Given the description of an element on the screen output the (x, y) to click on. 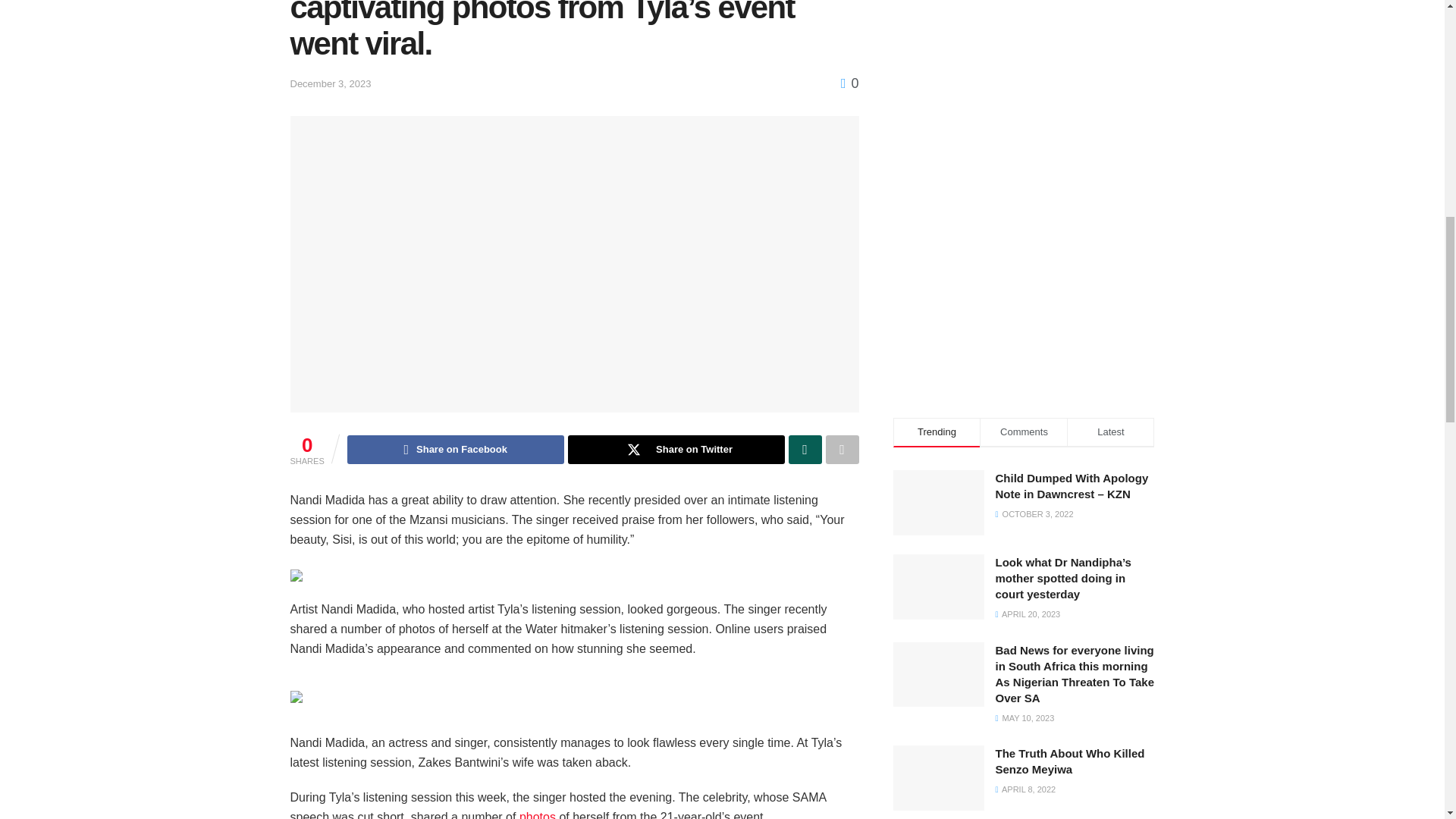
Share on Facebook (455, 449)
Share on Twitter (675, 449)
December 3, 2023 (330, 83)
0 (850, 83)
